Given the description of an element on the screen output the (x, y) to click on. 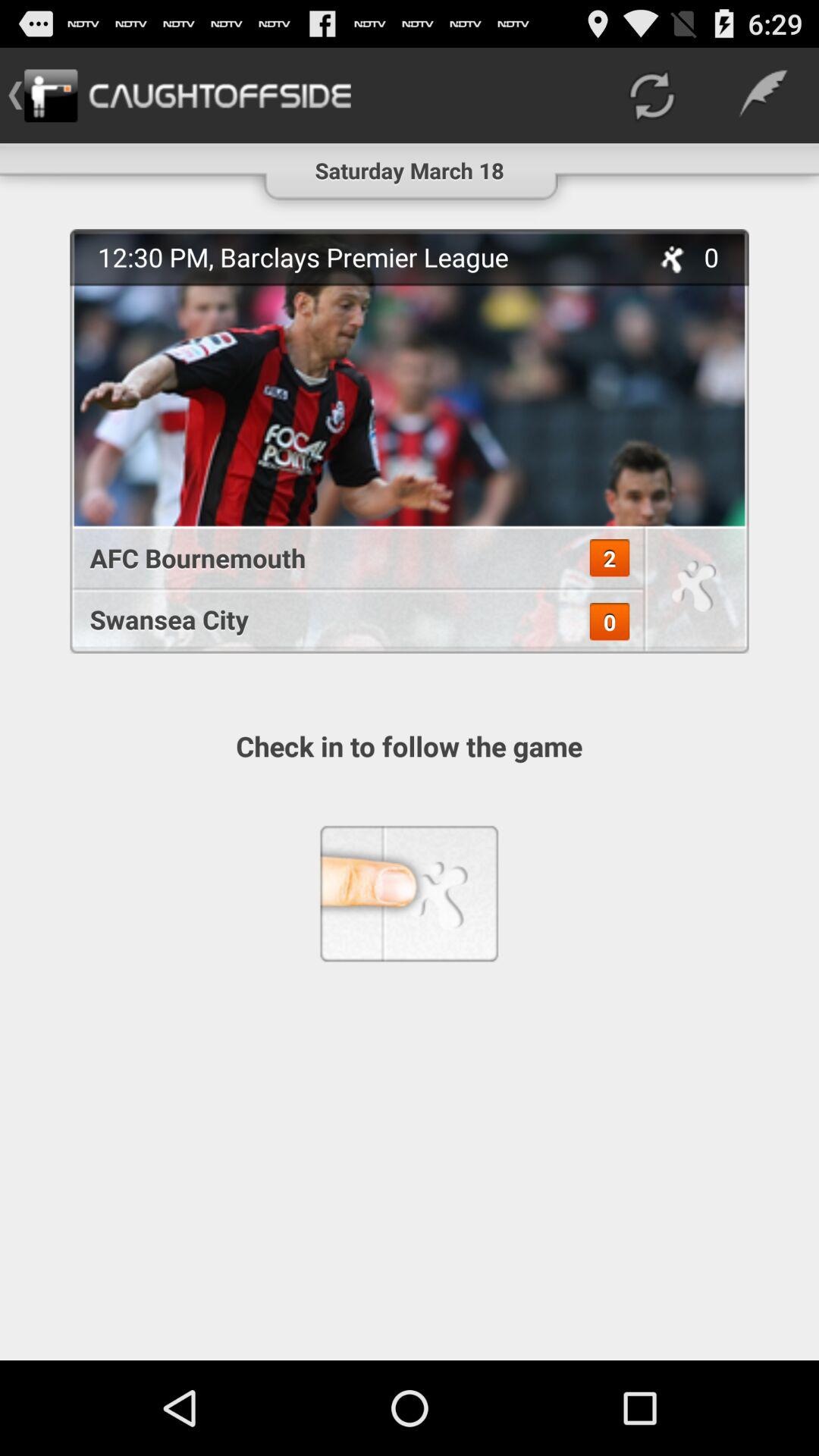
launch the app above swansea city icon (348, 557)
